Given the description of an element on the screen output the (x, y) to click on. 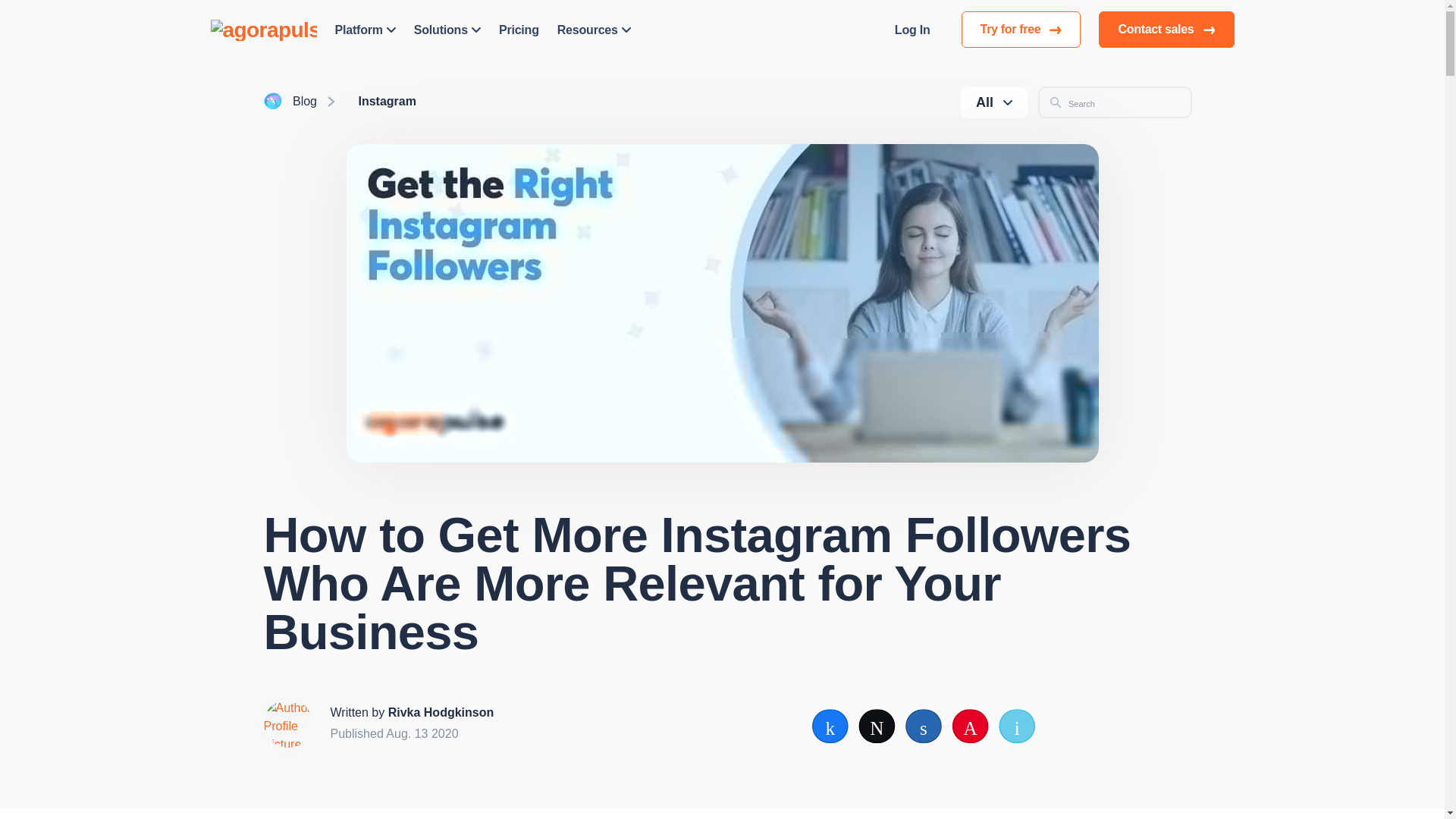
Log In (912, 29)
Resources (593, 29)
Pricing (518, 29)
Solutions (446, 29)
agorapulse (264, 29)
Platform (365, 29)
Try for free (1020, 29)
